Given the description of an element on the screen output the (x, y) to click on. 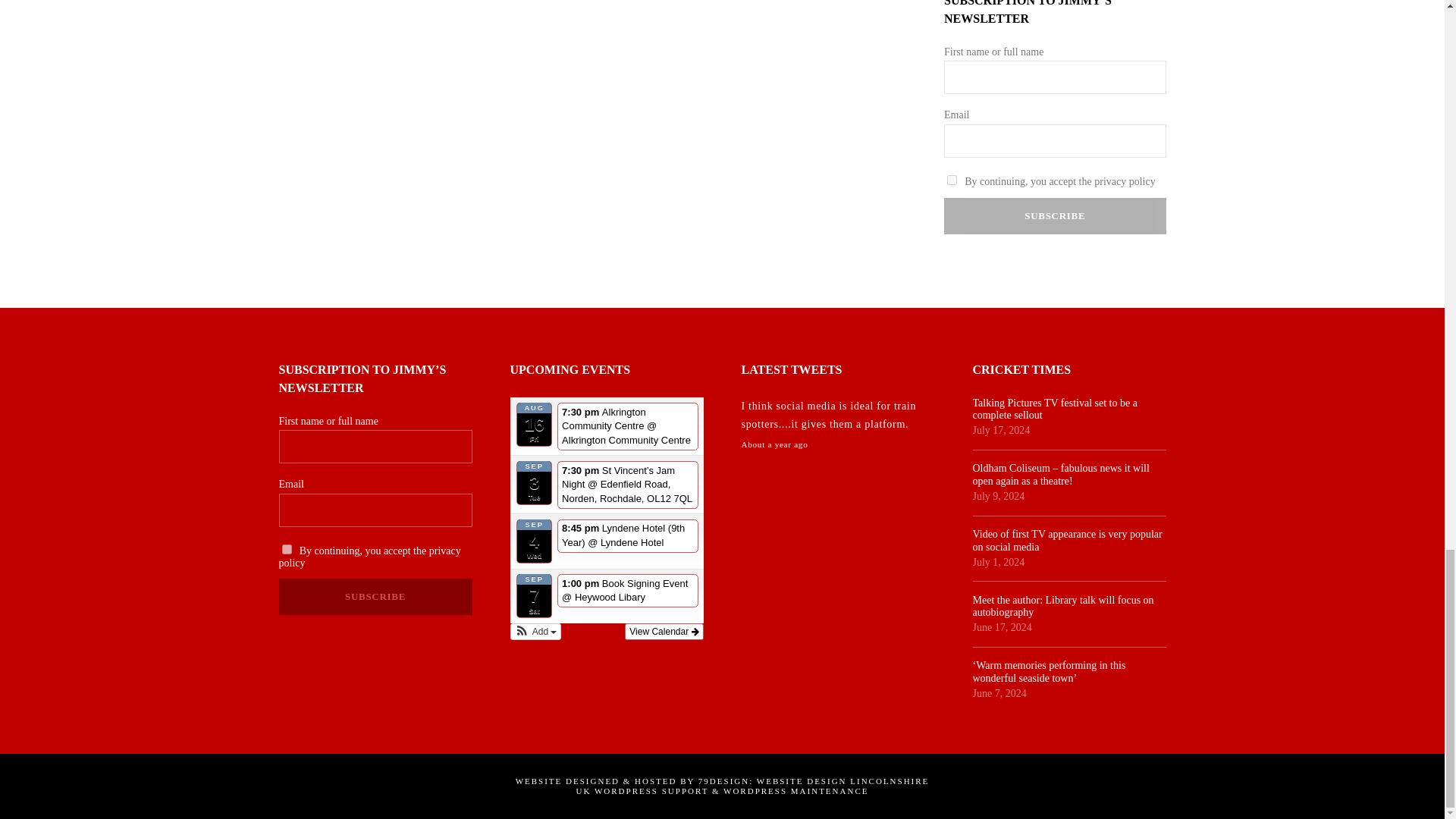
on (287, 549)
Subscribe (375, 596)
on (951, 180)
Subscribe (1054, 216)
